Given the description of an element on the screen output the (x, y) to click on. 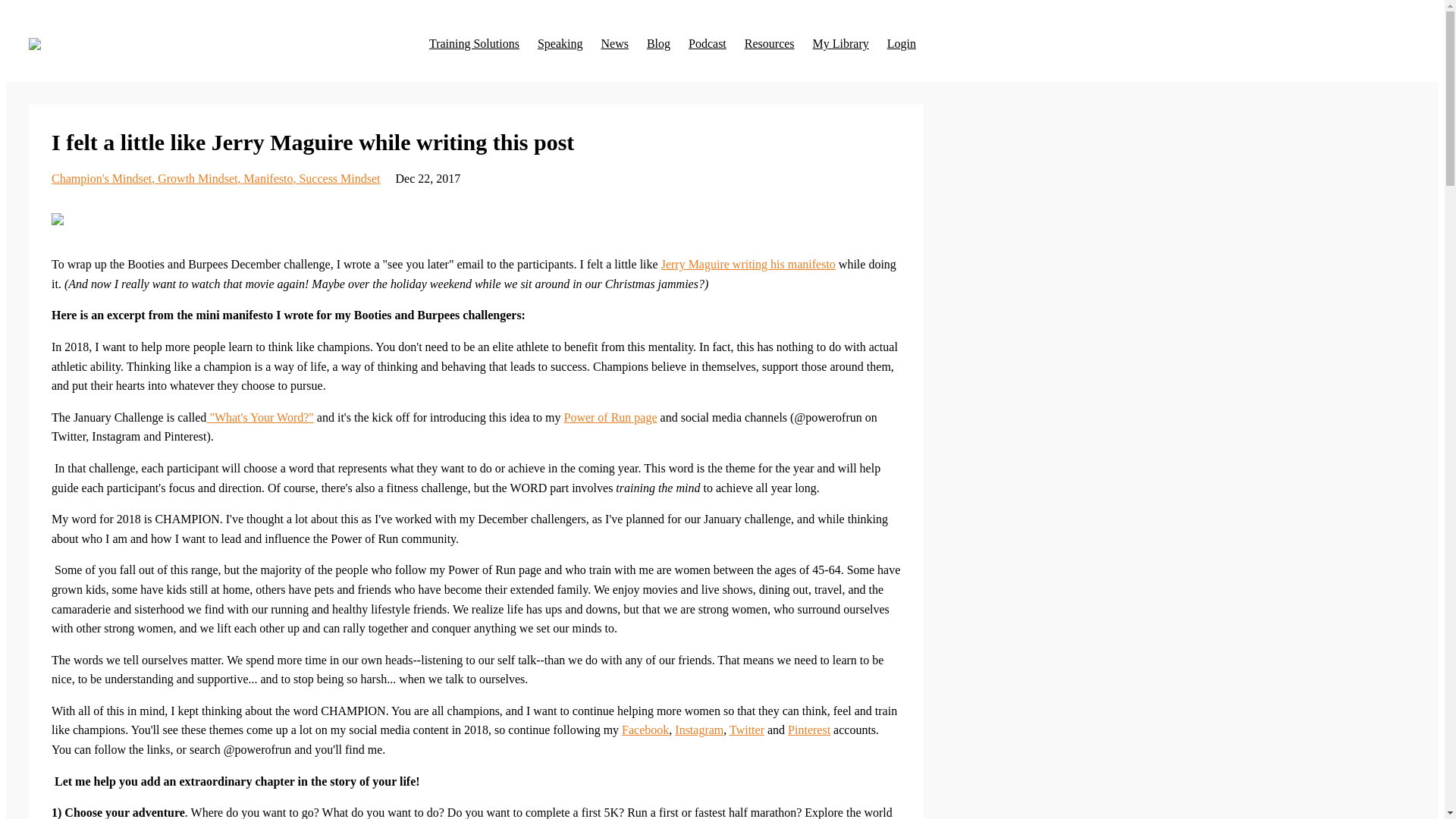
Jerry Maguire writing his manifesto (748, 264)
Pinterest (808, 729)
Training Solutions (474, 43)
Success Mindset (339, 178)
Login (900, 43)
My Library (840, 43)
"What's Your Word?" (259, 417)
Podcast (707, 43)
Growth Mindset (200, 178)
Power of Run page (609, 417)
Facebook (644, 729)
News (613, 43)
Manifesto (271, 178)
Instagram (699, 729)
Speaking (560, 43)
